Given the description of an element on the screen output the (x, y) to click on. 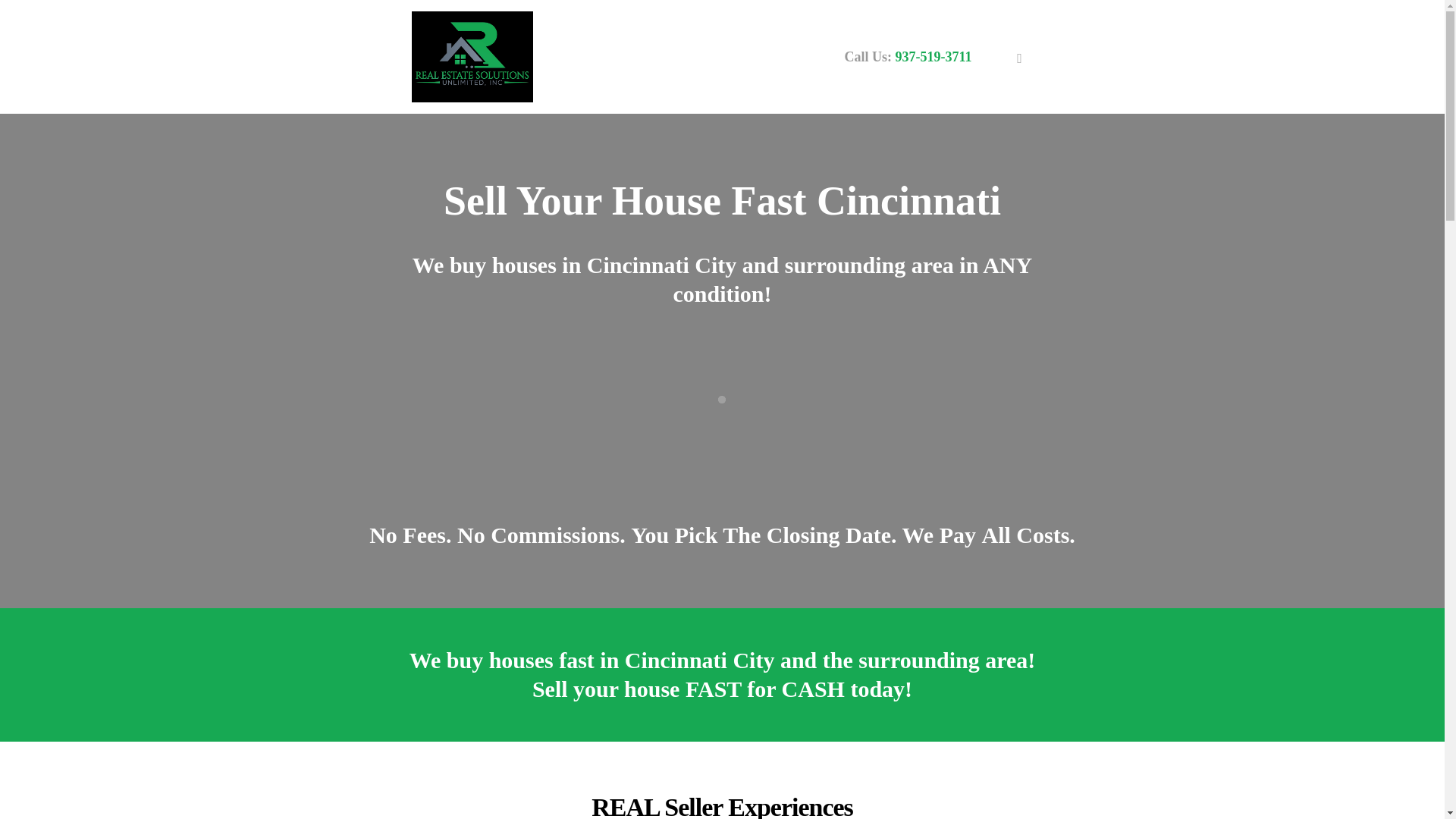
Call Us: 937-519-3711 (908, 56)
